Given the description of an element on the screen output the (x, y) to click on. 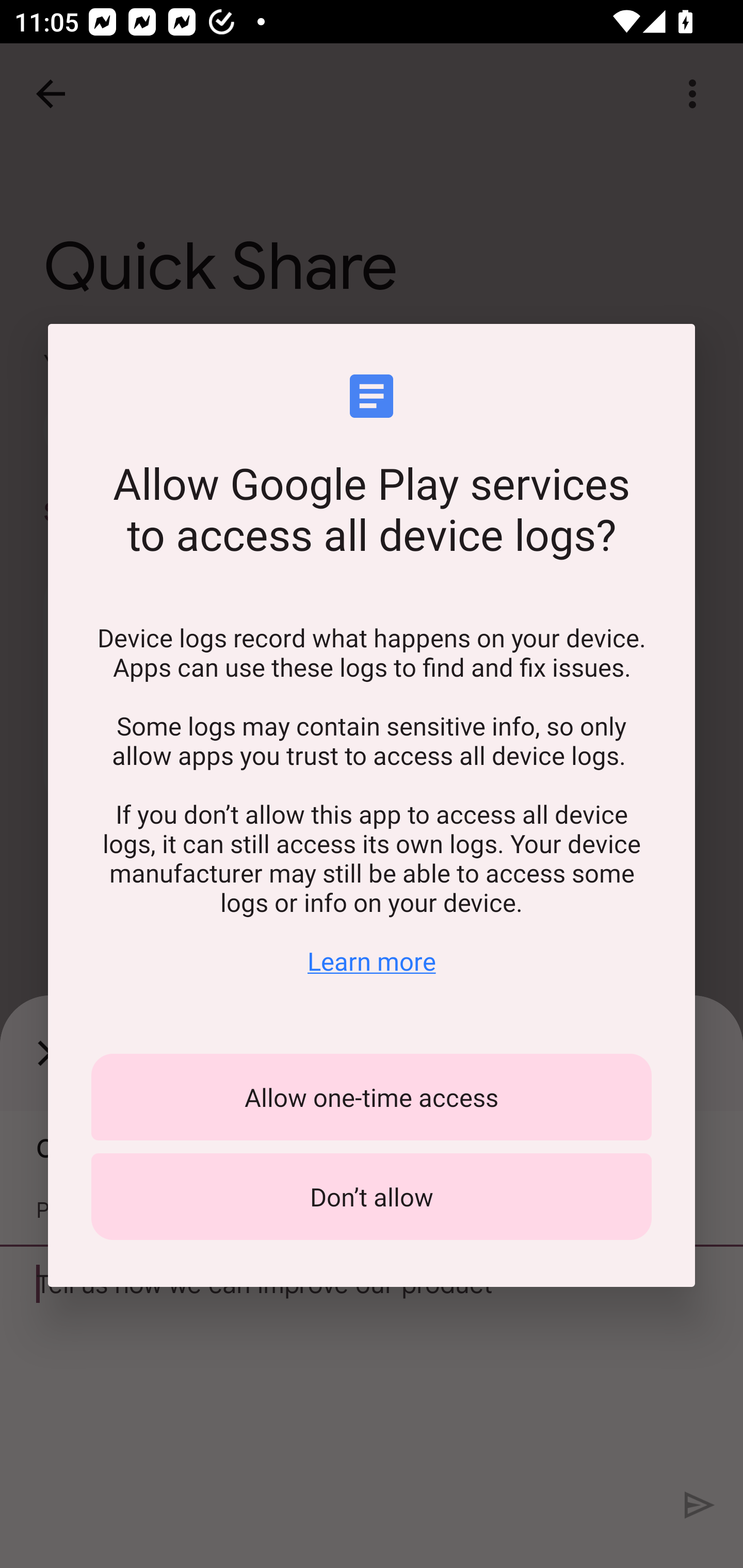
Allow one-time access (371, 1096)
Don’t allow (371, 1197)
